Given the description of an element on the screen output the (x, y) to click on. 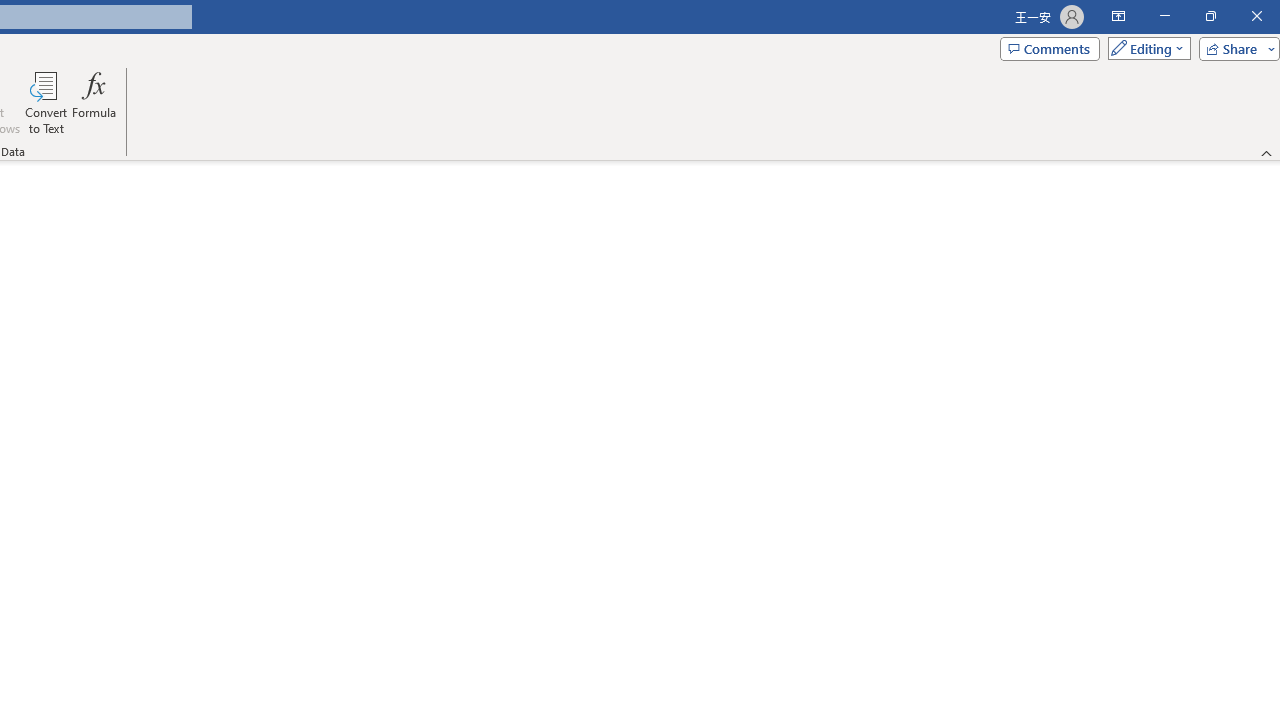
Editing (1144, 47)
Formula... (94, 102)
Convert to Text... (46, 102)
